Given the description of an element on the screen output the (x, y) to click on. 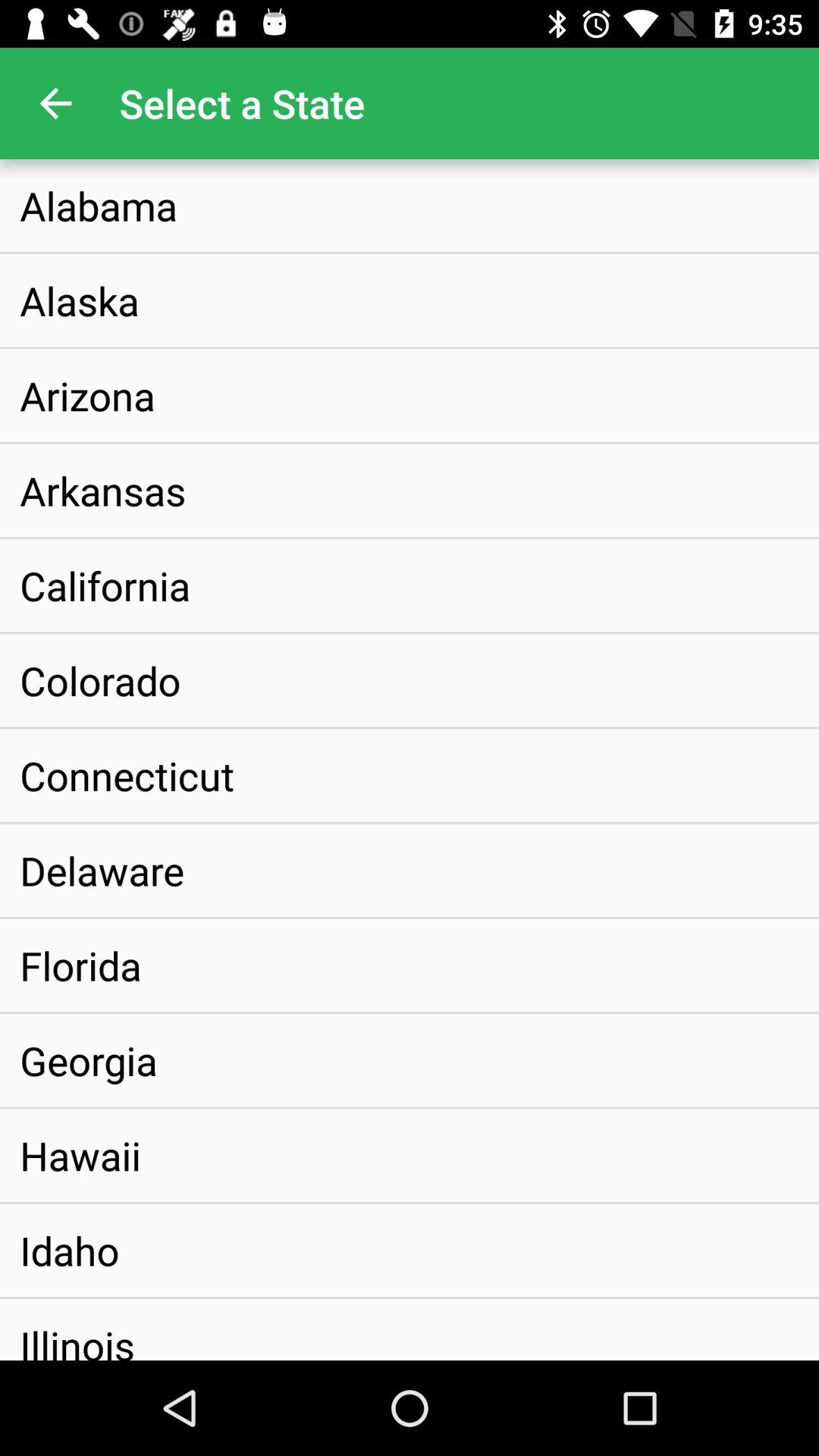
turn off idaho (69, 1250)
